Given the description of an element on the screen output the (x, y) to click on. 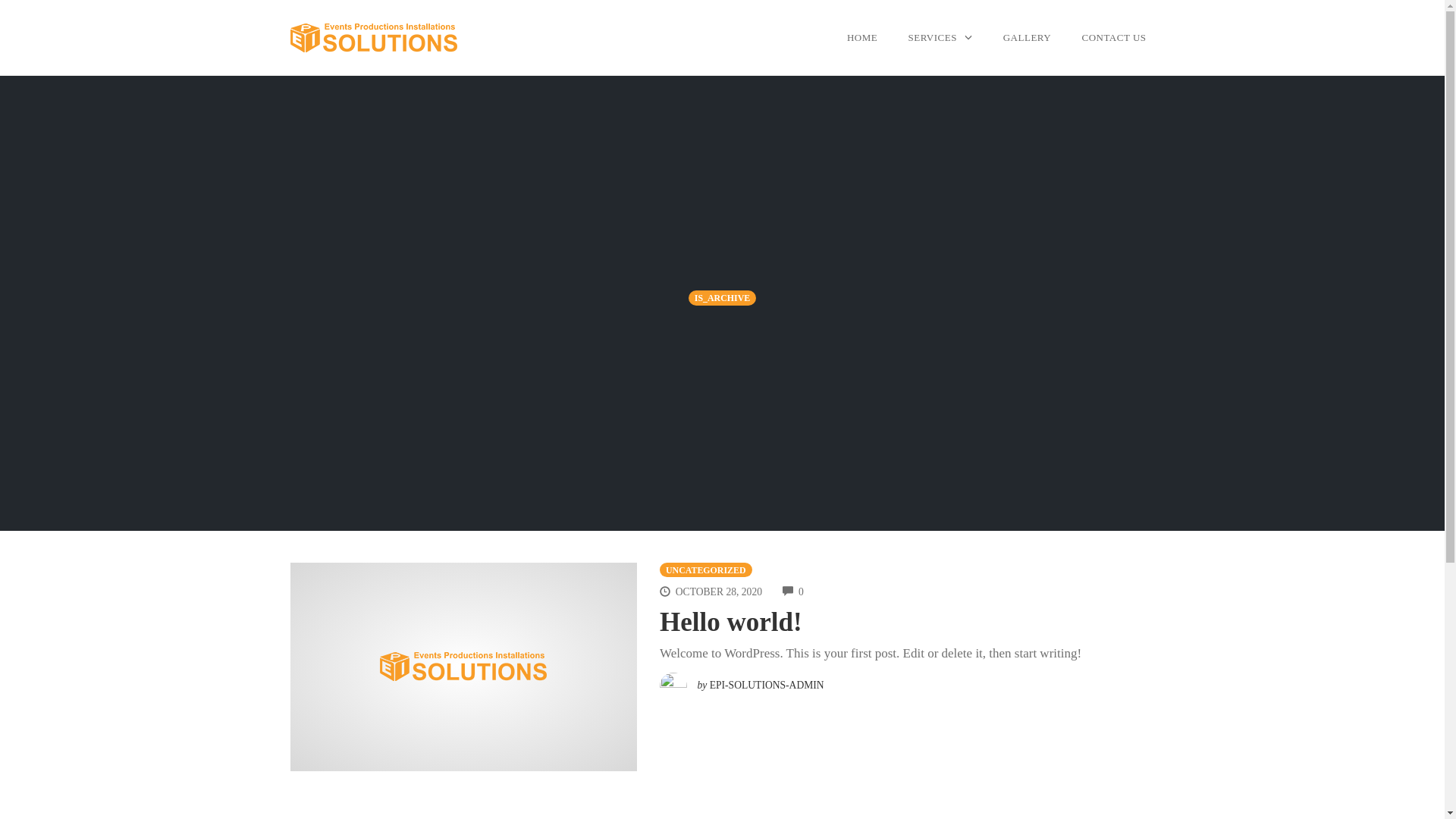
EPI Solutions Element type: hover (462, 666)
Hello world! Element type: text (730, 622)
GALLERY Element type: text (1026, 37)
CONTACT US Element type: text (1113, 37)
UNCATEGORIZED Element type: text (705, 569)
SERVICES Element type: text (939, 37)
0
COMMENTS Element type: text (792, 591)
EPI Solutions Element type: hover (372, 36)
Skip to content Element type: text (0, 75)
HOME Element type: text (861, 37)
by EPI-SOLUTIONS-ADMIN Element type: text (741, 680)
